Given the description of an element on the screen output the (x, y) to click on. 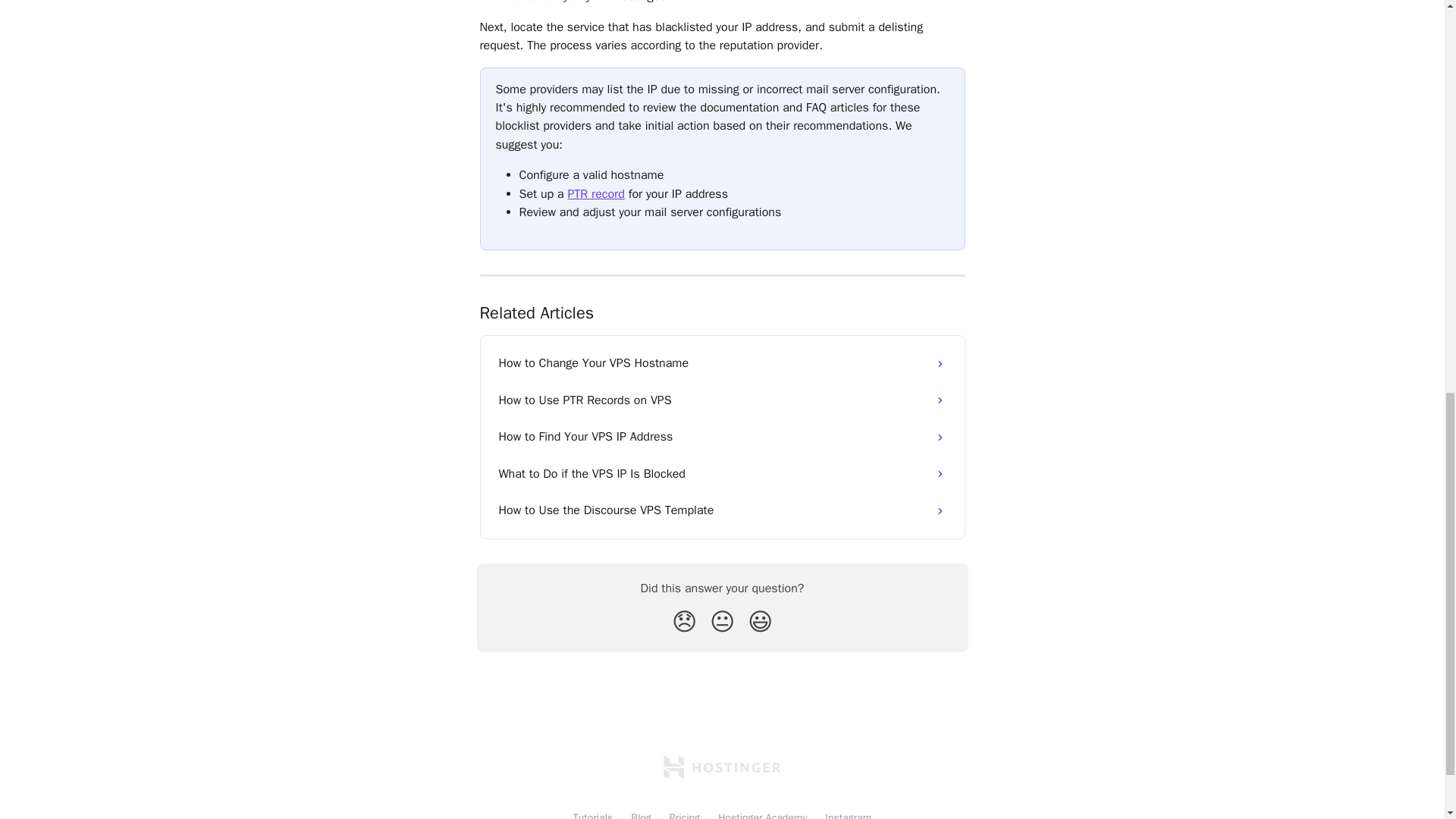
Disappointed (684, 622)
Instagram (847, 815)
Hostinger Academy (761, 815)
Tutorials (592, 815)
Smiley (760, 622)
How to Change Your VPS Hostname (722, 362)
PTR record (595, 193)
How to Find Your VPS IP Address (722, 436)
How to Use PTR Records on VPS (722, 400)
Pricing (684, 815)
What to Do if the VPS IP Is Blocked (722, 473)
Neutral (722, 622)
Blog (640, 815)
How to Use the Discourse VPS Template (722, 510)
